Given the description of an element on the screen output the (x, y) to click on. 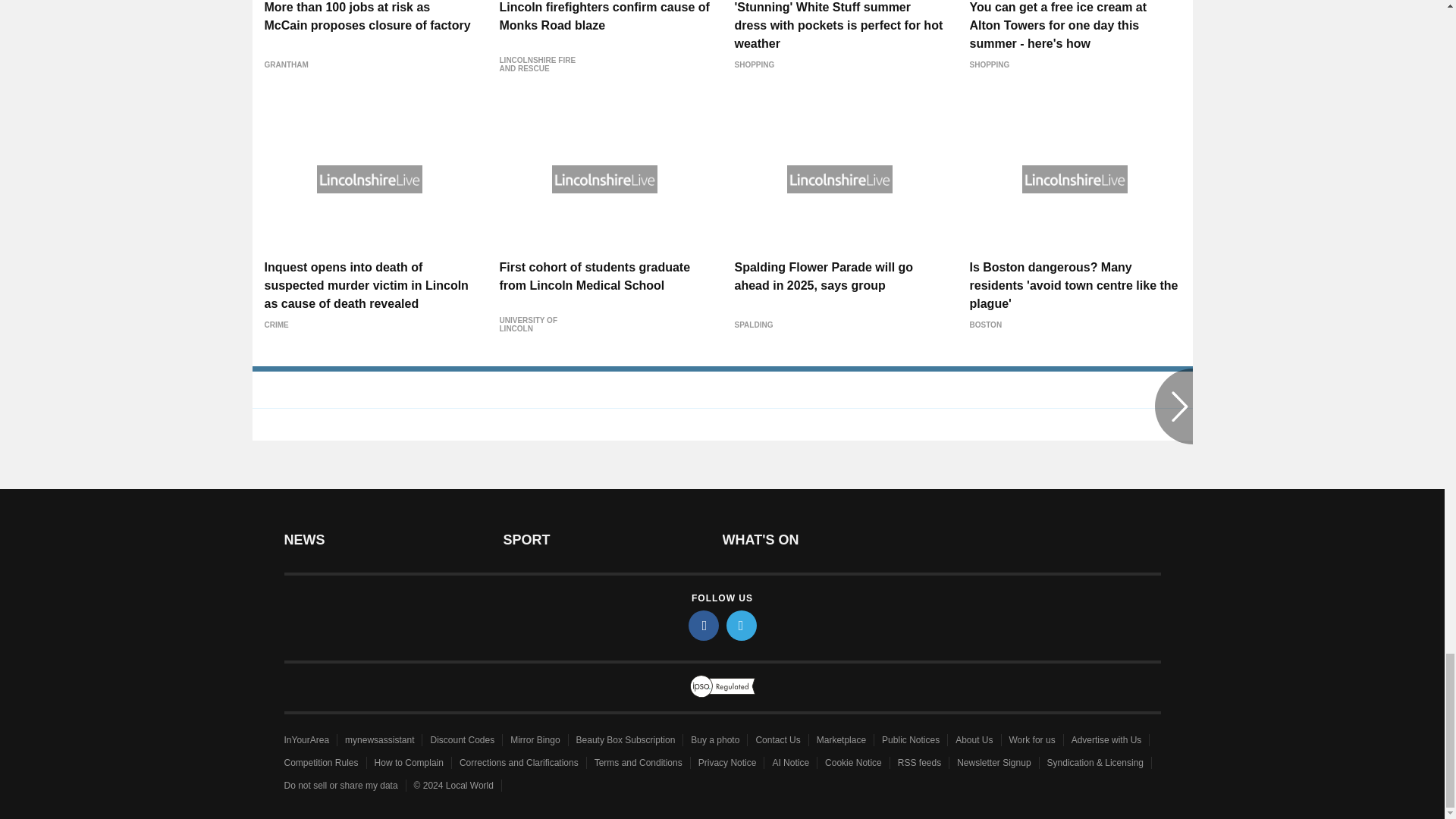
twitter (741, 625)
facebook (703, 625)
